Given the description of an element on the screen output the (x, y) to click on. 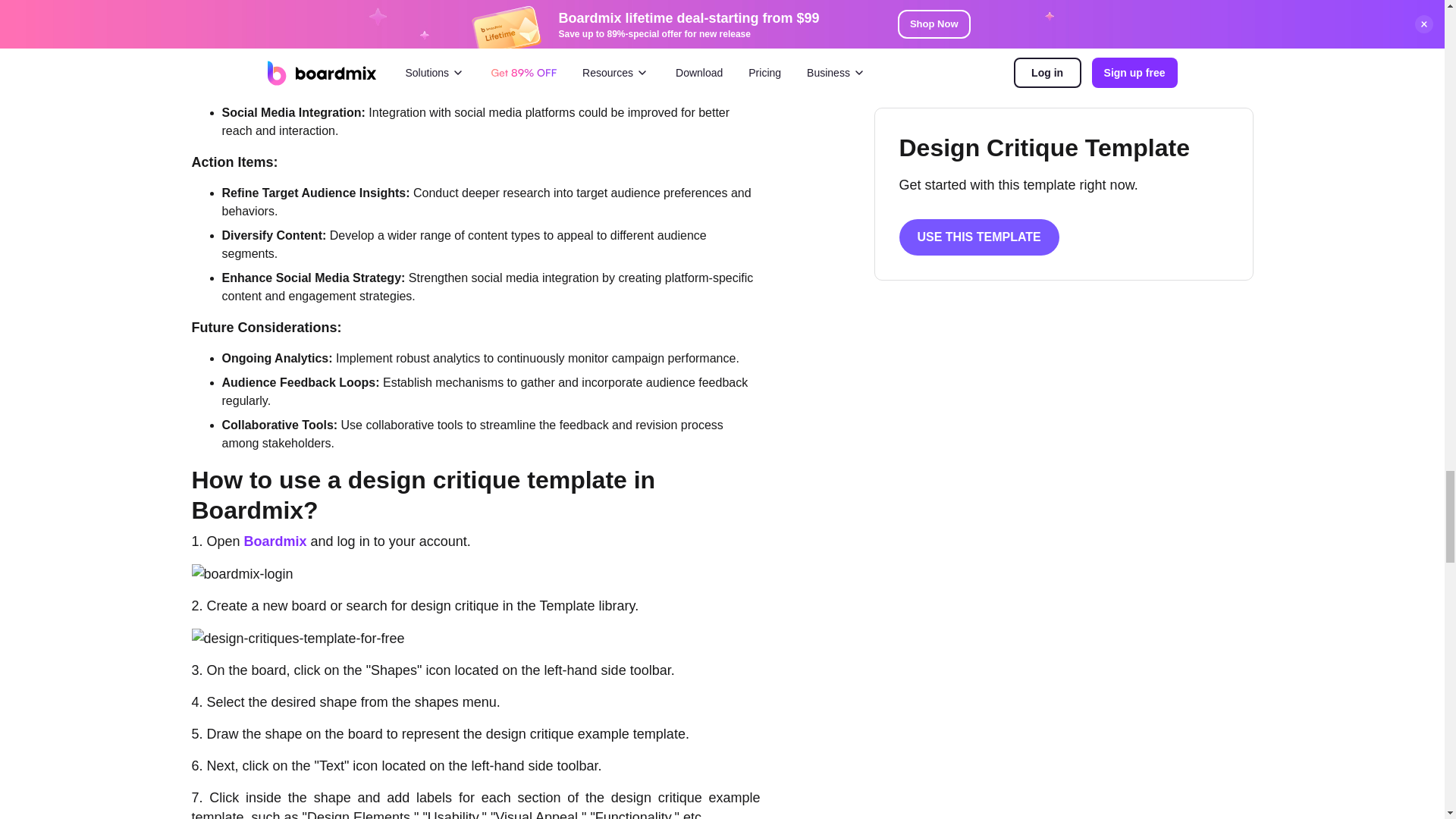
Boardmix (275, 540)
